Given the description of an element on the screen output the (x, y) to click on. 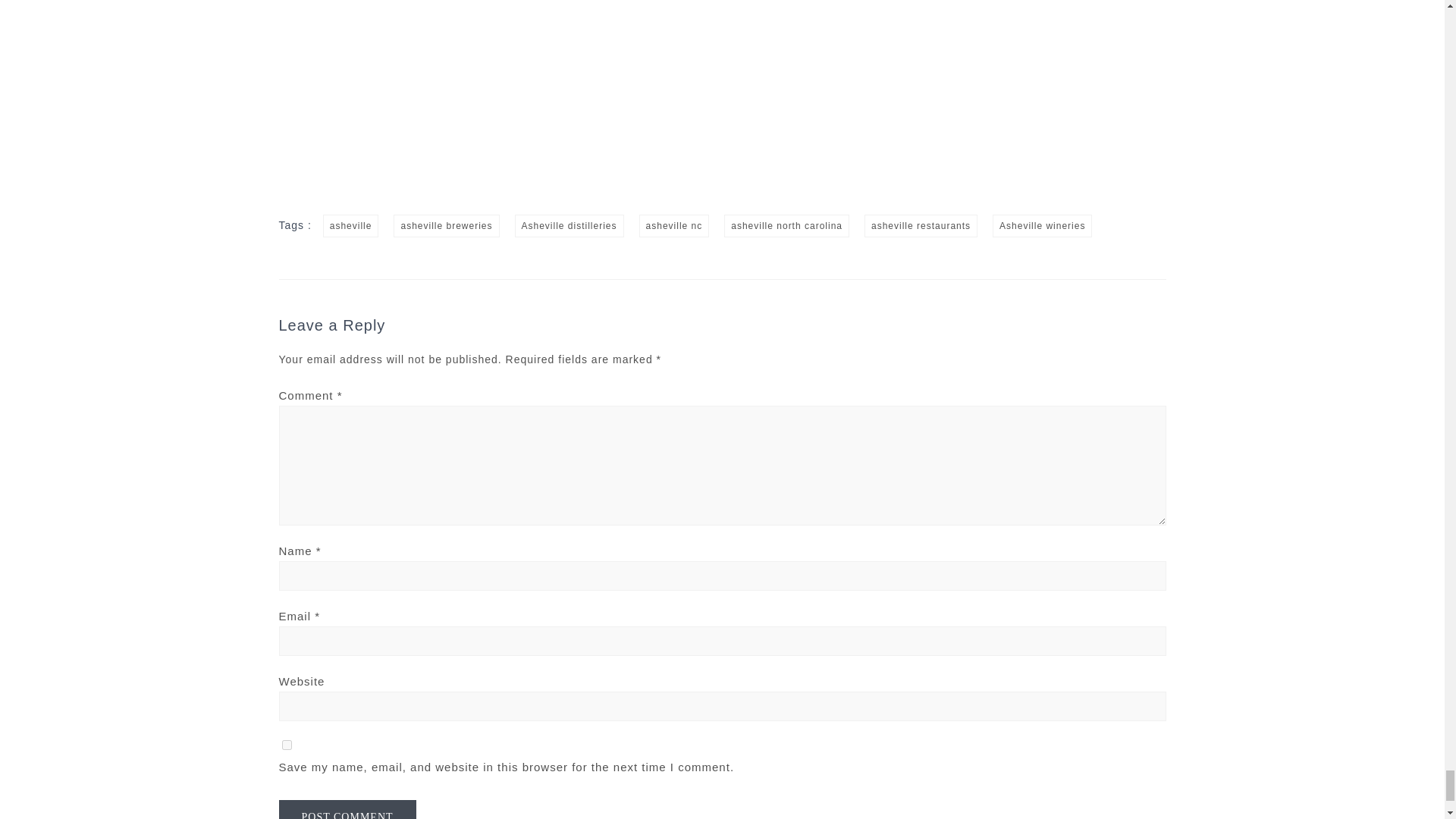
yes (287, 745)
Post Comment (347, 809)
